Given the description of an element on the screen output the (x, y) to click on. 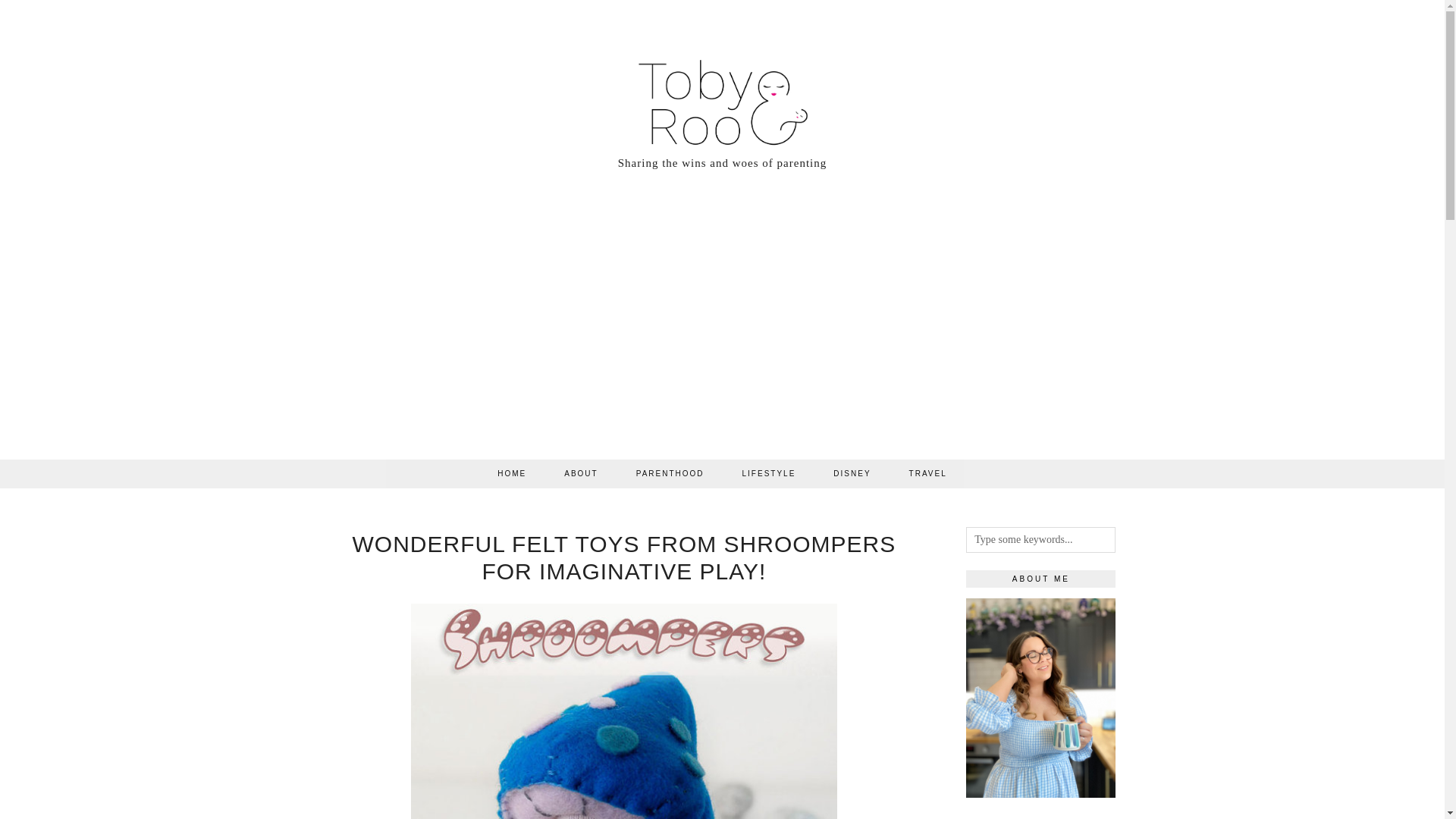
Toby and Roo (722, 92)
